Given the description of an element on the screen output the (x, y) to click on. 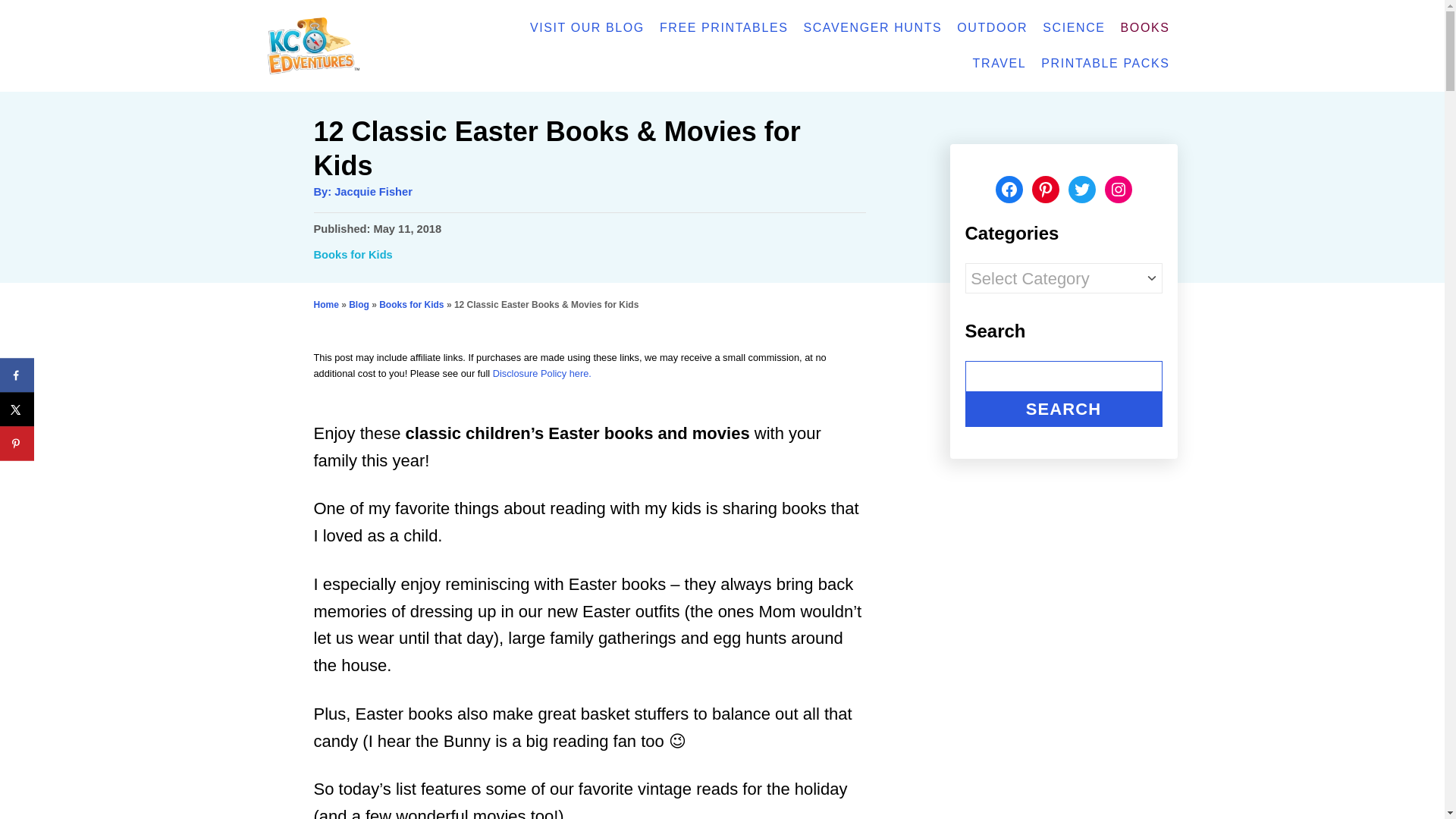
KC Edventures (357, 45)
Books for Kids (353, 254)
Jacquie Fisher (373, 191)
PRINTABLE PACKS (1104, 63)
OUTDOOR (992, 28)
FREE PRINTABLES (724, 28)
BOOKS (1145, 28)
Save to Pinterest (16, 442)
SCAVENGER HUNTS (871, 28)
SCIENCE (1073, 28)
Books for Kids (411, 304)
Share on X (16, 409)
Home (326, 304)
TRAVEL (999, 63)
Share on Facebook (16, 374)
